Given the description of an element on the screen output the (x, y) to click on. 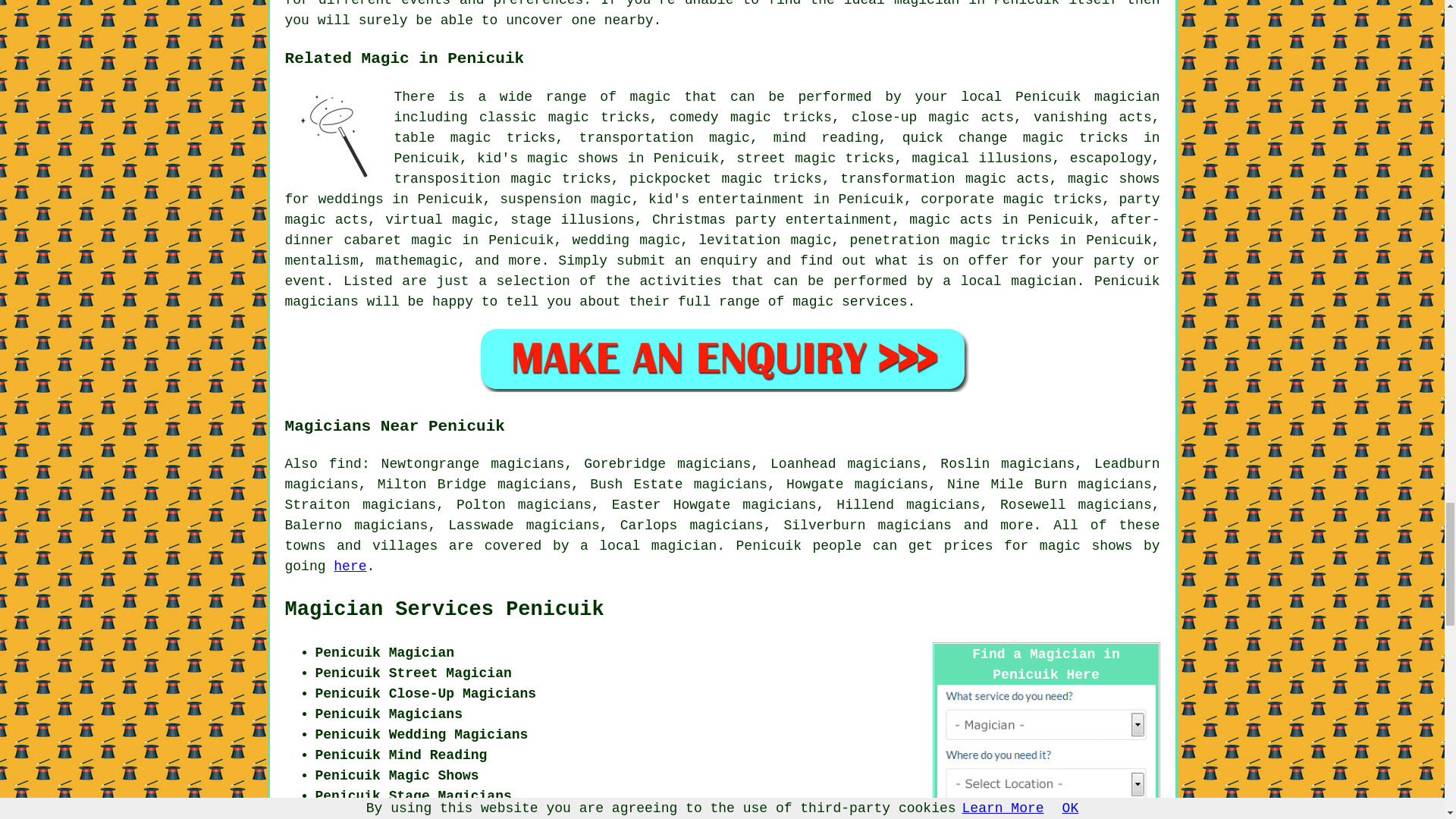
PENICUIK MAGICIAN QUOTES (722, 358)
magic shows for weddings (722, 189)
magician (1126, 96)
a local magician (1008, 281)
a local magician (647, 545)
magic shows (1085, 545)
magic (650, 96)
Magic Performances Penicuik (334, 135)
